Given the description of an element on the screen output the (x, y) to click on. 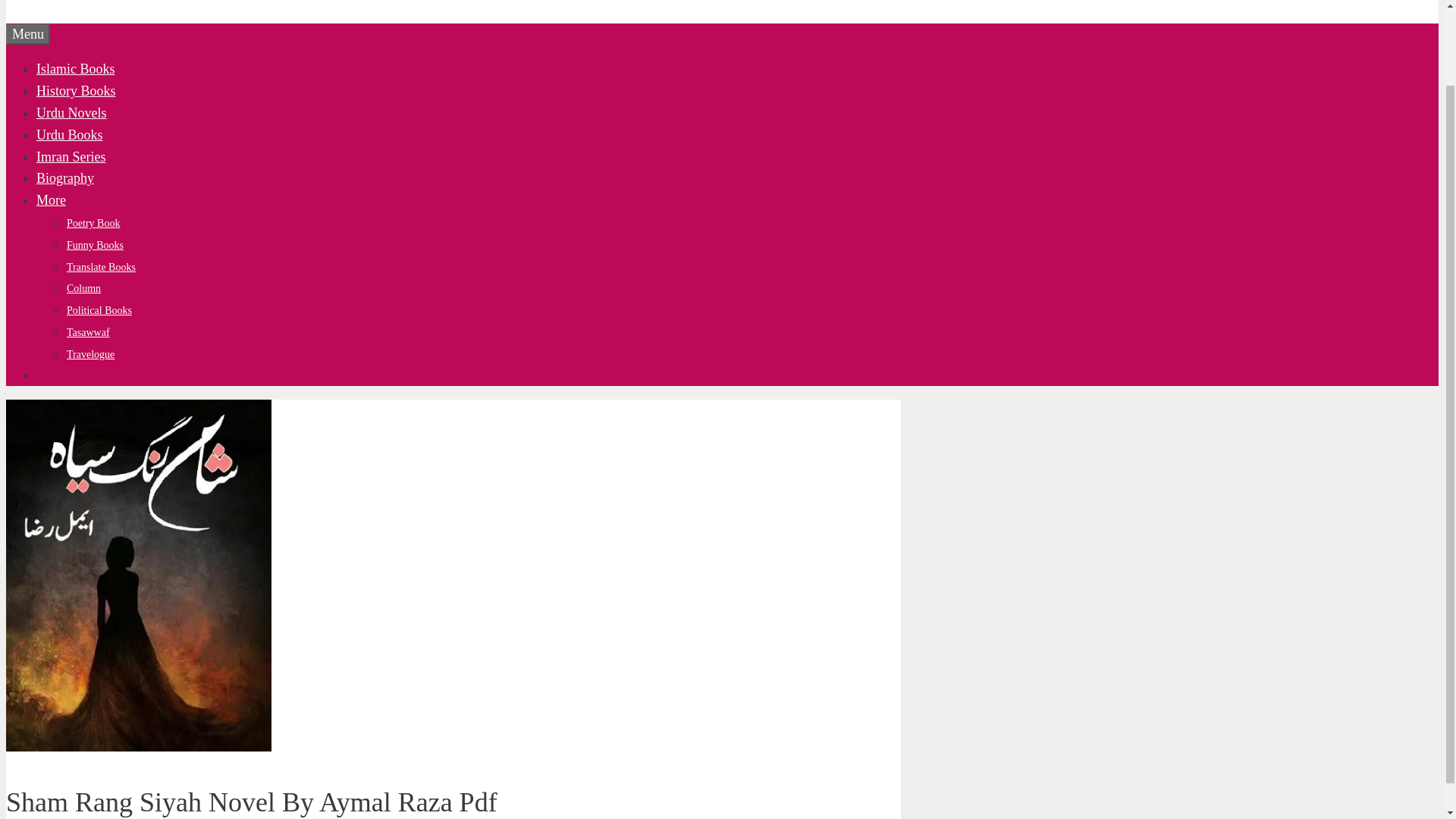
Funny Books (94, 244)
Column (83, 288)
Imran Series (70, 156)
Poetry Book (92, 223)
Biography (65, 177)
Political Books (99, 310)
Urdu Books (69, 134)
More (50, 200)
Islamic Books (75, 68)
Tasawwaf (88, 332)
Urdu Novels (71, 112)
Travelogue (90, 354)
History Books (76, 90)
Menu (27, 34)
Translate Books (100, 266)
